Given the description of an element on the screen output the (x, y) to click on. 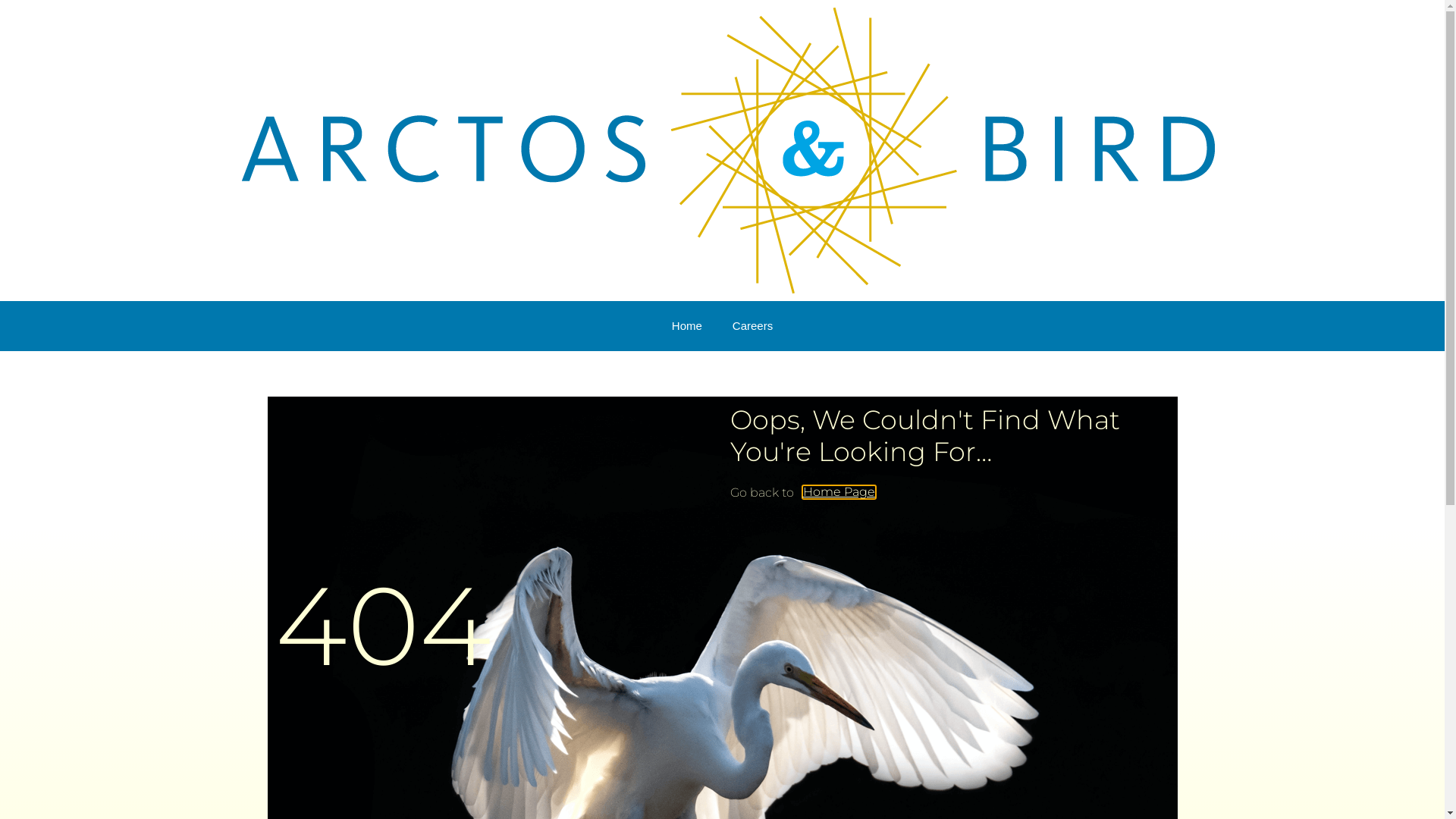
Careers Element type: text (752, 325)
Home Element type: text (686, 325)
A-cmyk Element type: hover (727, 150)
Home Page Element type: text (837, 491)
